Given the description of an element on the screen output the (x, y) to click on. 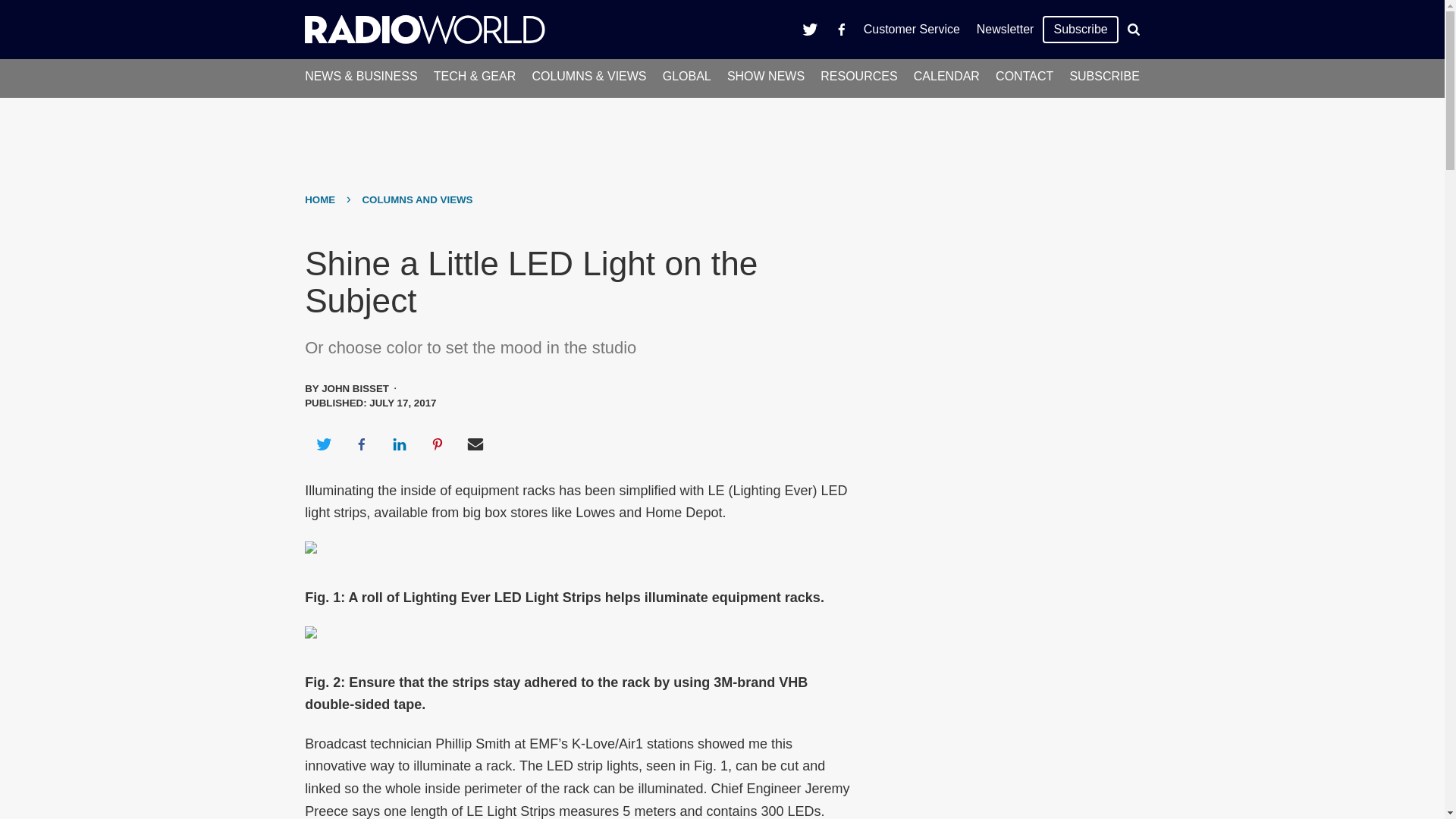
Share via Email (476, 444)
Share on Pinterest (438, 444)
Share on Facebook (361, 444)
Customer Service (912, 29)
Share on Twitter (323, 444)
Share on LinkedIn (399, 444)
